Given the description of an element on the screen output the (x, y) to click on. 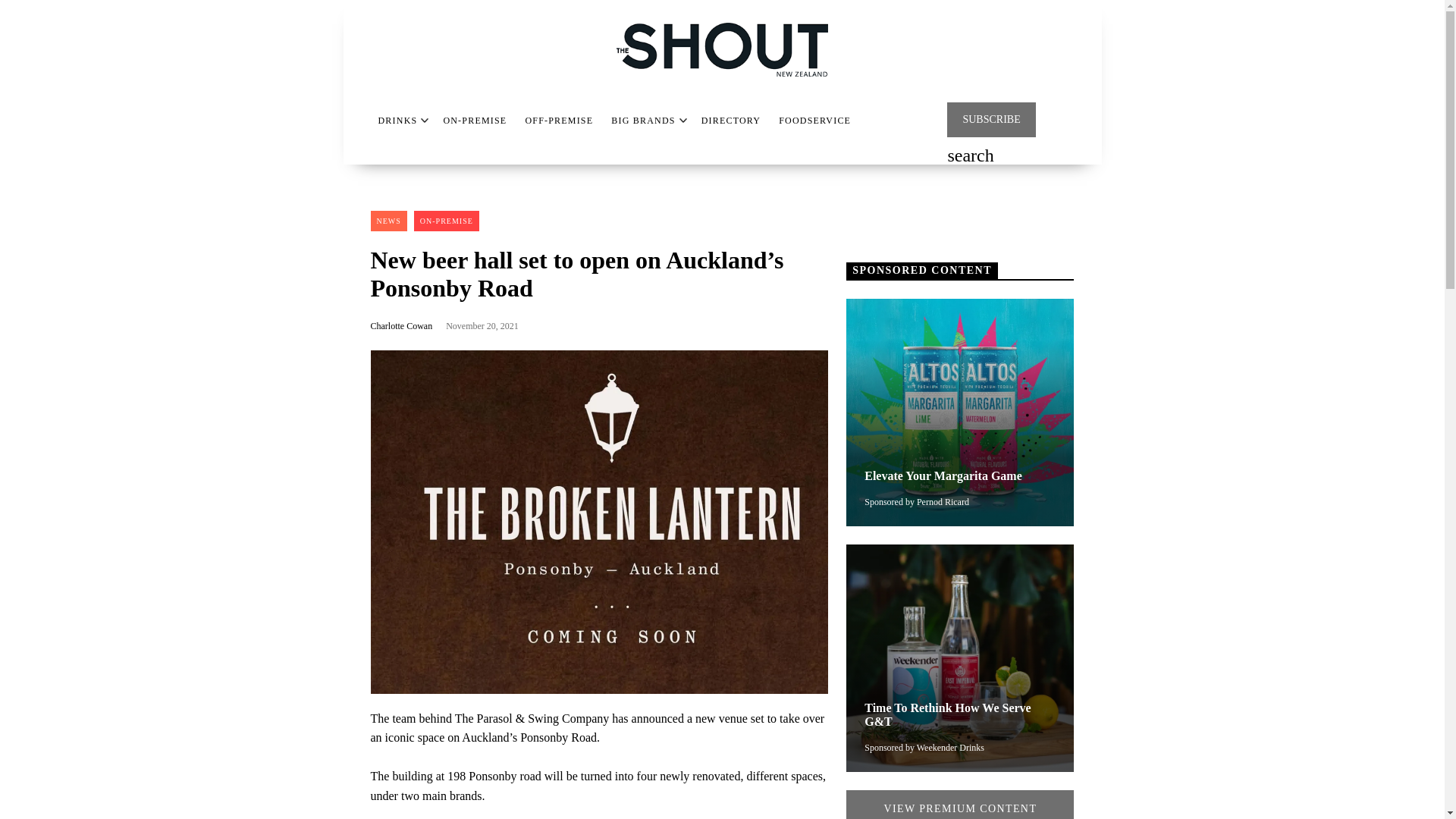
DIRECTORY (731, 120)
ON-PREMISE (474, 120)
OFF-PREMISE (558, 120)
search (969, 156)
DRINKS (396, 120)
SUBSCRIBE (991, 119)
FOODSERVICE (814, 120)
BIG BRANDS (643, 120)
